Given the description of an element on the screen output the (x, y) to click on. 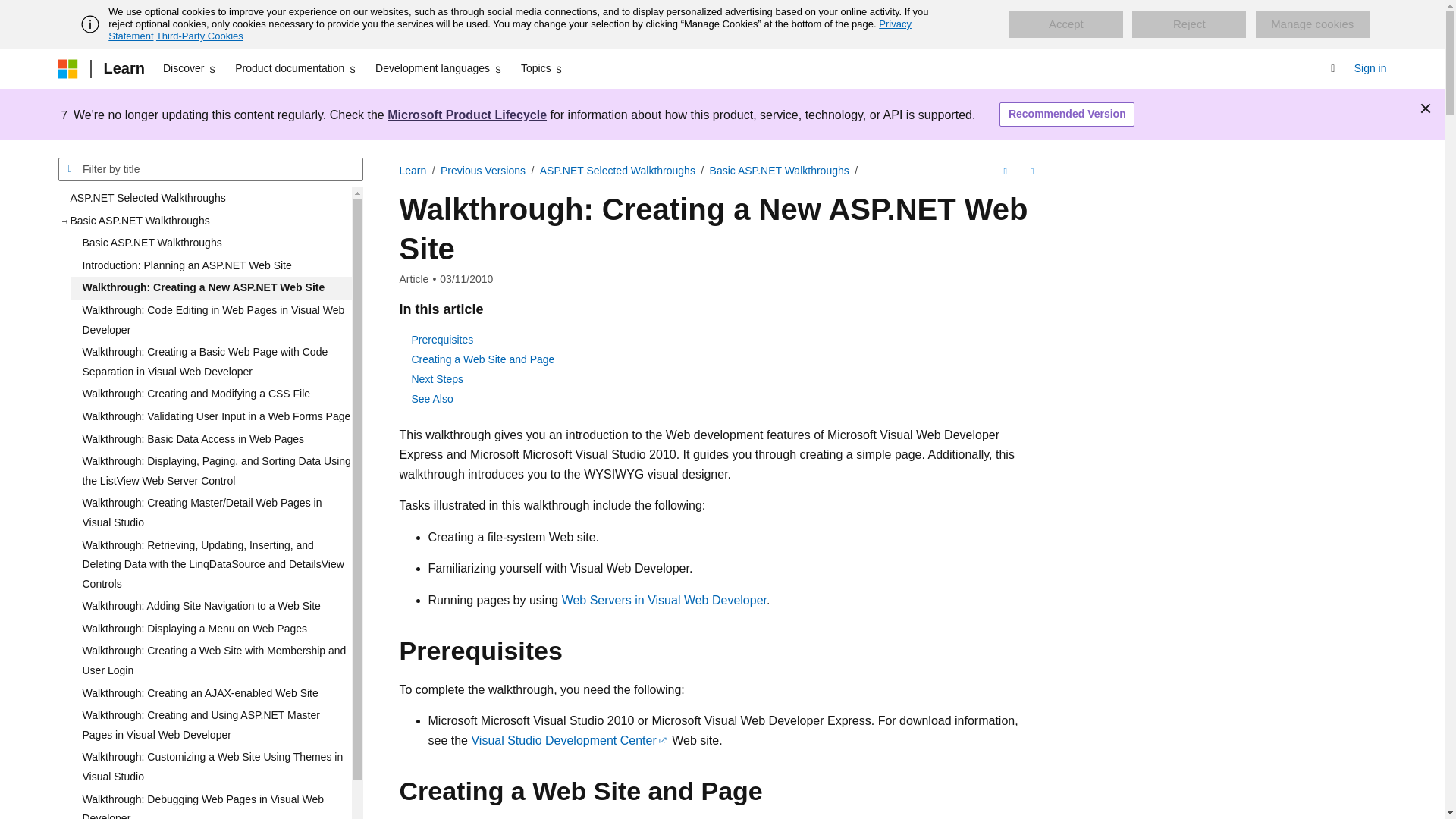
Topics (542, 68)
Development languages (438, 68)
Accept (1065, 23)
Walkthrough: Validating User Input in a Web Forms Page (209, 416)
Microsoft Product Lifecycle (467, 114)
Third-Party Cookies (199, 35)
ASP.NET Selected Walkthroughs (204, 198)
More actions (1031, 170)
Dismiss alert (1425, 108)
Product documentation (295, 68)
Introduction: Planning an ASP.NET Web Site (209, 265)
Walkthrough: Creating and Modifying a CSS File (209, 394)
Walkthrough: Creating a New ASP.NET Web Site (209, 287)
Walkthrough: Basic Data Access in Web Pages (209, 439)
Basic ASP.NET Walkthroughs (209, 242)
